Given the description of an element on the screen output the (x, y) to click on. 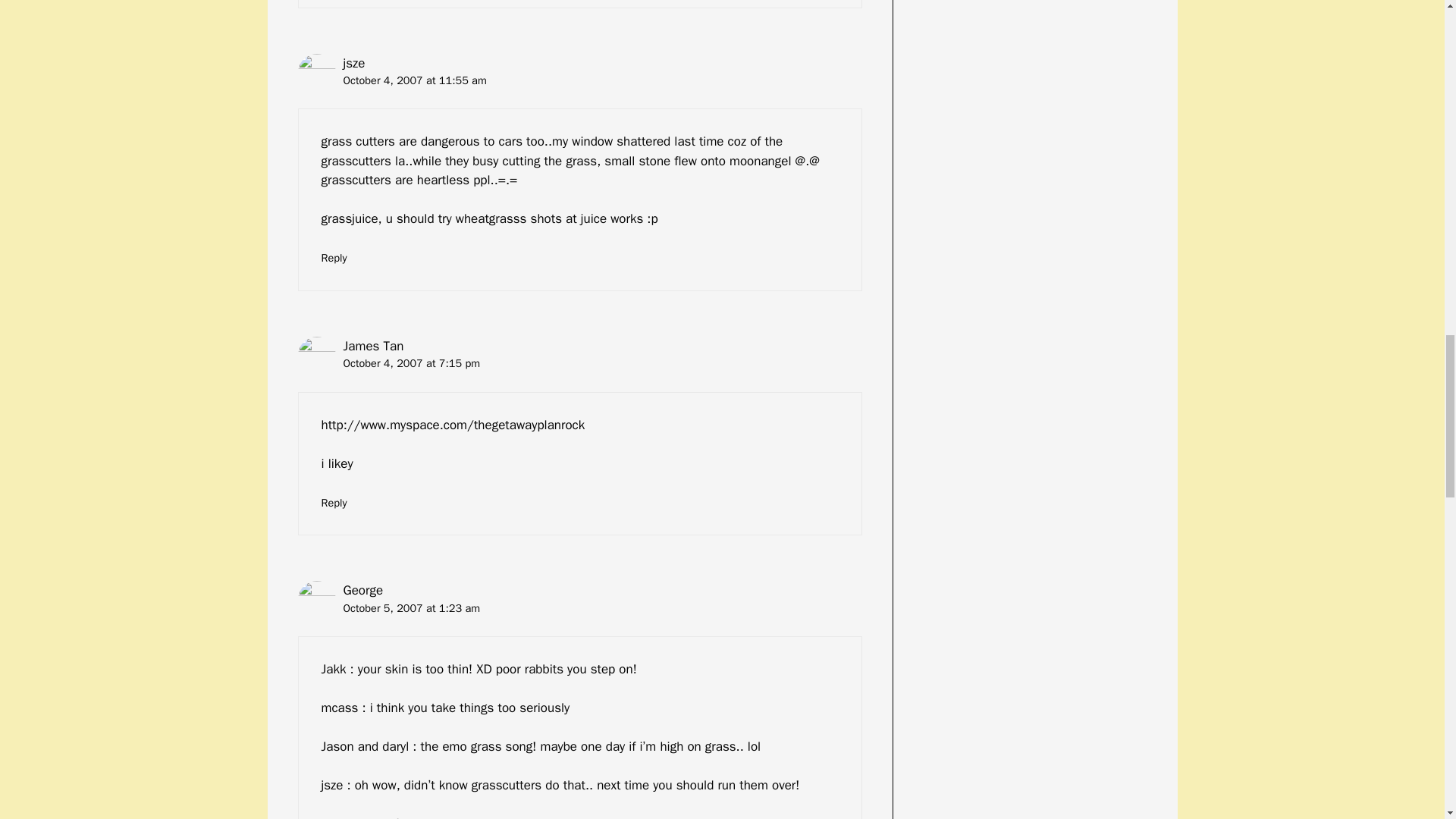
October 4, 2007 at 7:15 pm (411, 363)
October 4, 2007 at 11:55 am (414, 79)
jsze (353, 63)
Reply (334, 502)
Reply (334, 257)
James Tan (372, 345)
George (362, 590)
October 5, 2007 at 1:23 am (411, 608)
